Given the description of an element on the screen output the (x, y) to click on. 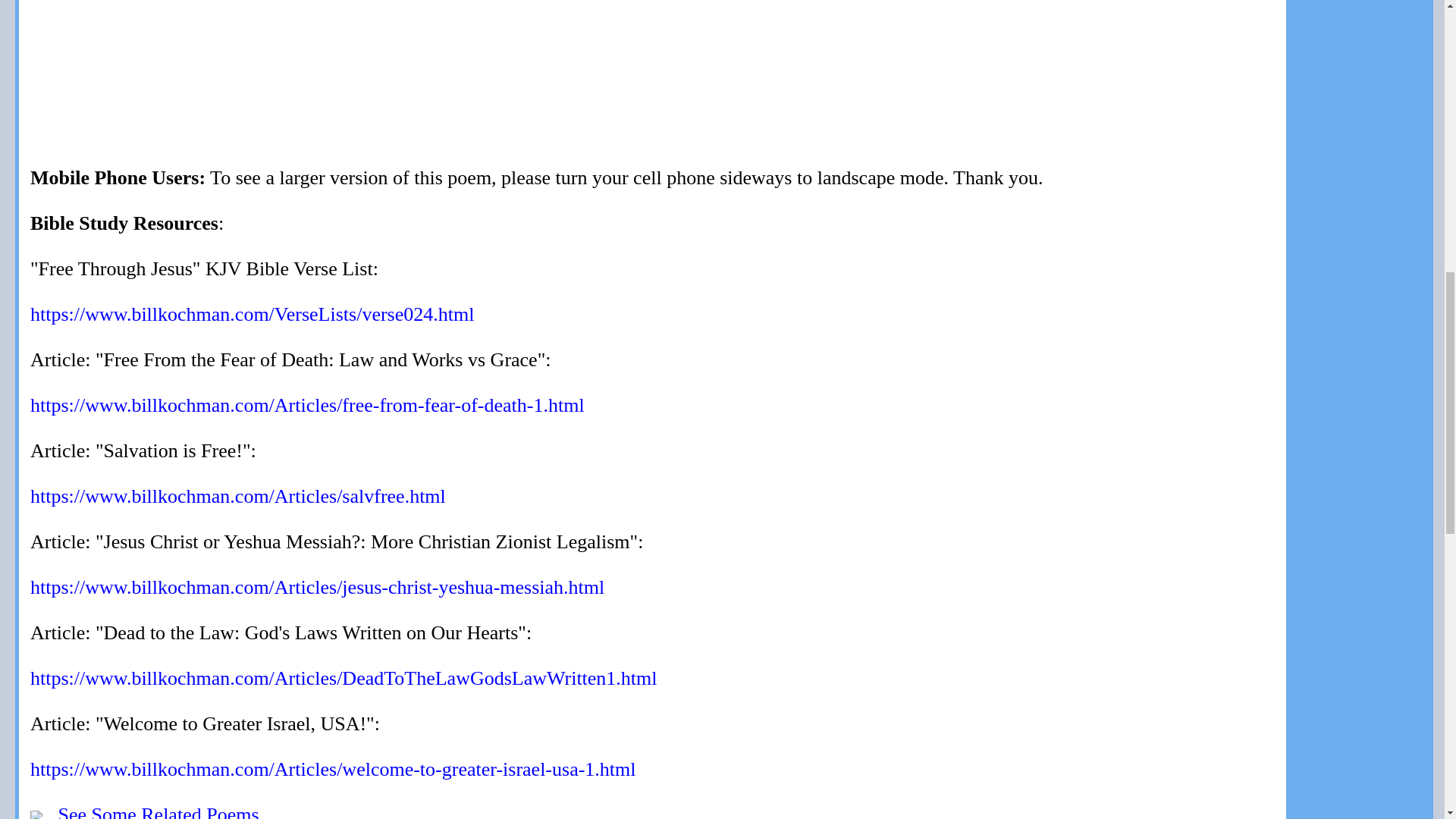
Article: 'Dead to the Law: God's Laws Written on Our Hearts' (344, 678)
See Some Related Poems (158, 811)
See Some Related Poems (158, 811)
Article: 'Salvation is Free!' (237, 495)
Article: 'Welcome to Greater Israel, USA!' (333, 769)
'Free Through Jesus' KJV Bible Verse List (252, 314)
